Given the description of an element on the screen output the (x, y) to click on. 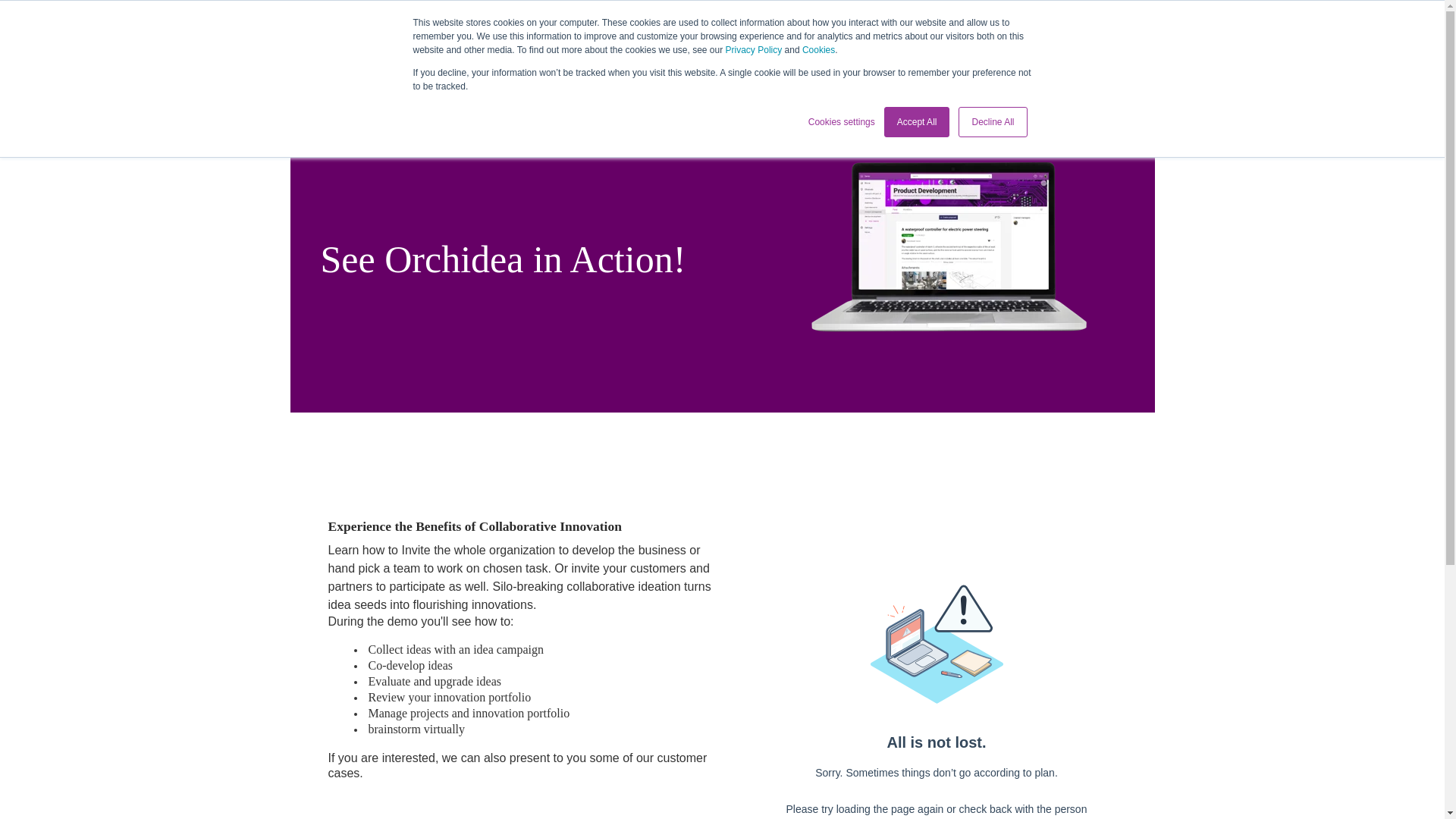
Accept All (916, 122)
Cookies settings (841, 121)
Privacy Policy (754, 50)
Decline All (992, 122)
Cookies (818, 50)
